Given the description of an element on the screen output the (x, y) to click on. 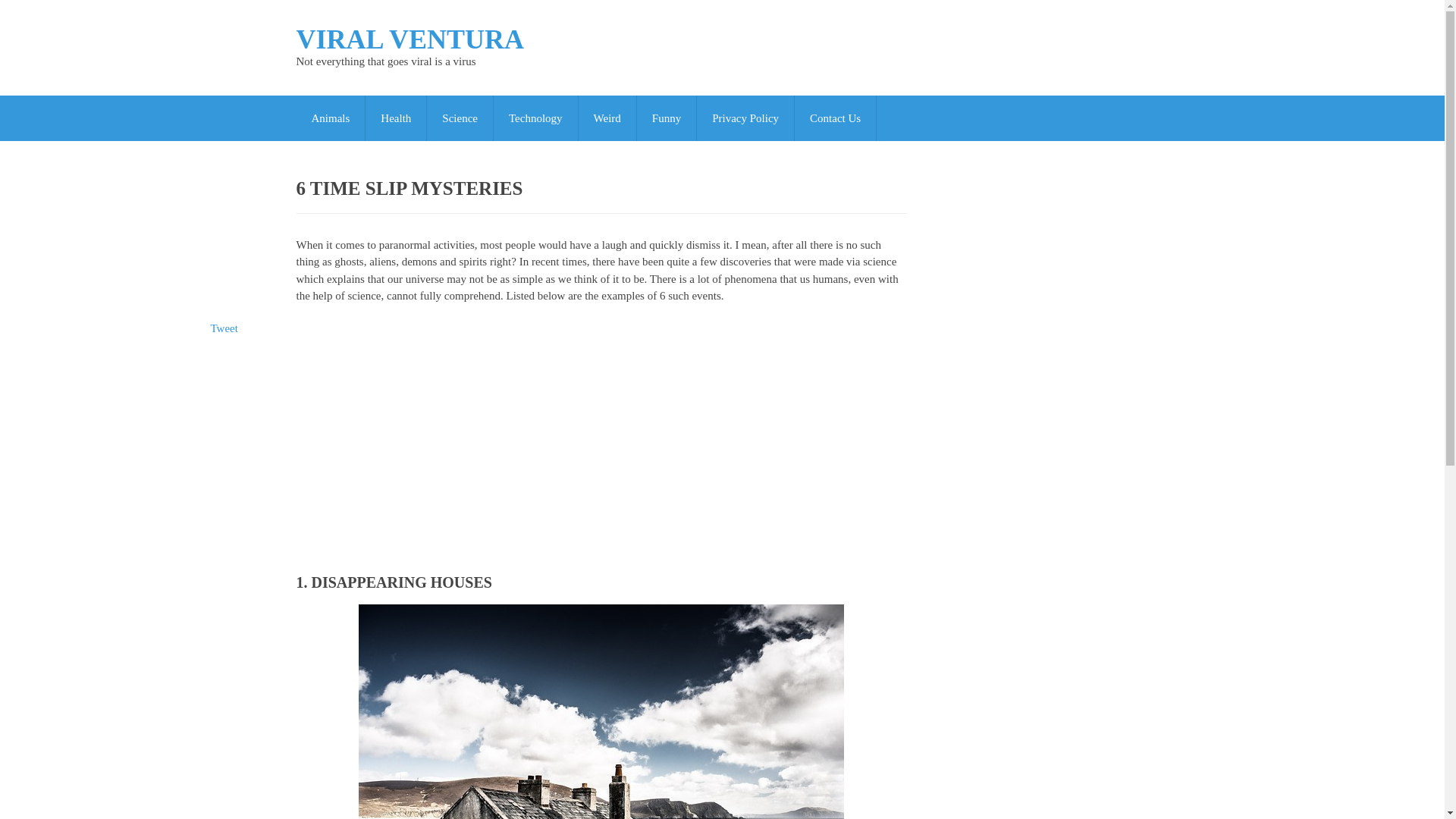
Weird (607, 117)
Privacy Policy (745, 117)
Technology (535, 117)
Contact Us (835, 117)
Science (459, 117)
Animals (330, 117)
Tweet (224, 328)
VIRAL VENTURA (408, 39)
Funny (666, 117)
Health (395, 117)
